Given the description of an element on the screen output the (x, y) to click on. 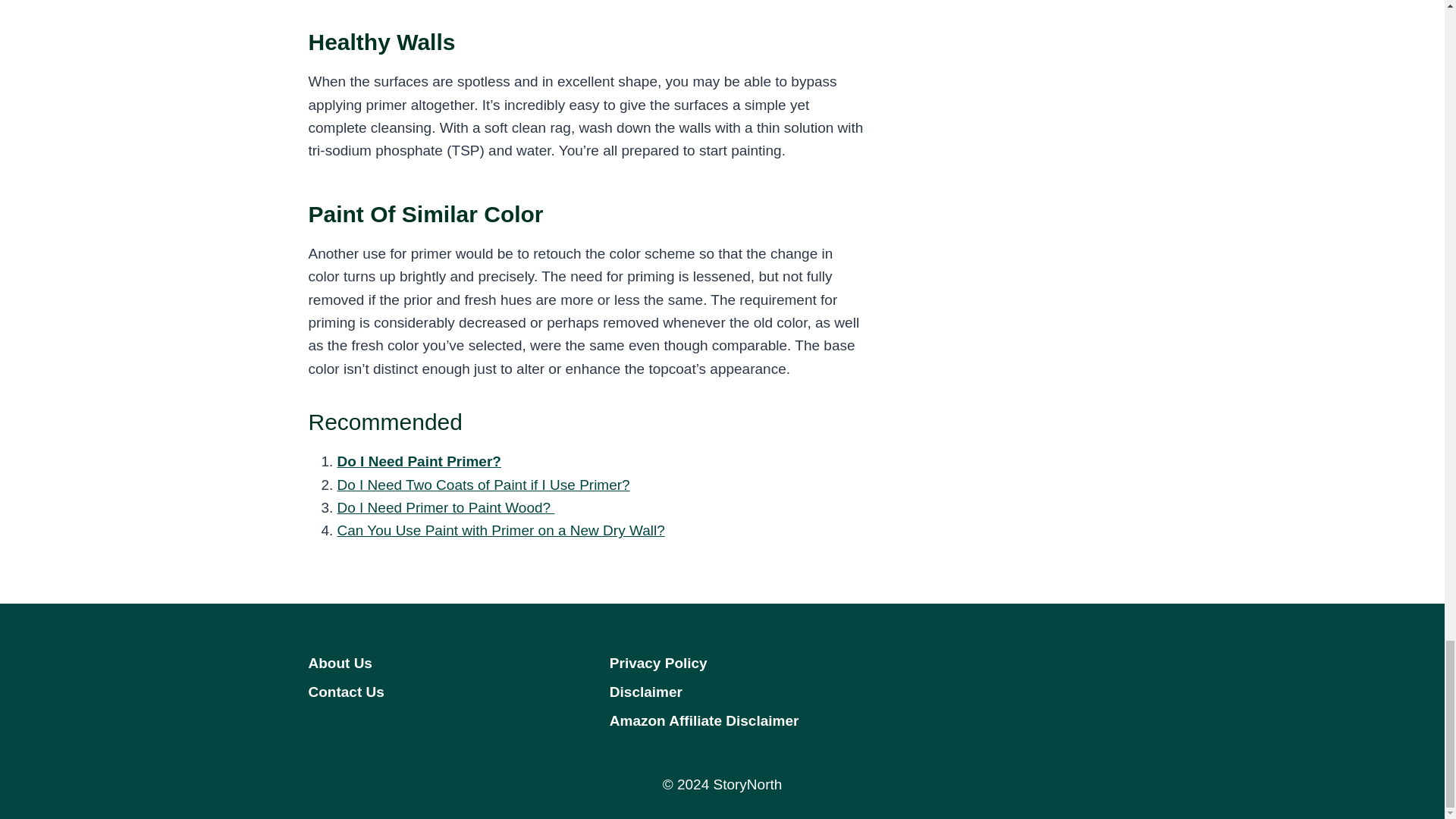
Privacy Policy (722, 663)
About Us (419, 663)
Disclaimer (722, 692)
Can You Use Paint with  Primer on a New Dry Wall? (499, 530)
Contact Us (419, 692)
Do I Need Paint Primer? (418, 461)
Amazon Affiliate Disclaimer (722, 720)
Do I Need Two Coats of Paint if I Use Primer? (482, 484)
Do I Need Two Coats of  Paint if I Use Primer? (482, 484)
Do I Need Primer to Paint Wood?  (445, 507)
Can You Use Paint with Primer on a New Dry Wall? (499, 530)
